Given the description of an element on the screen output the (x, y) to click on. 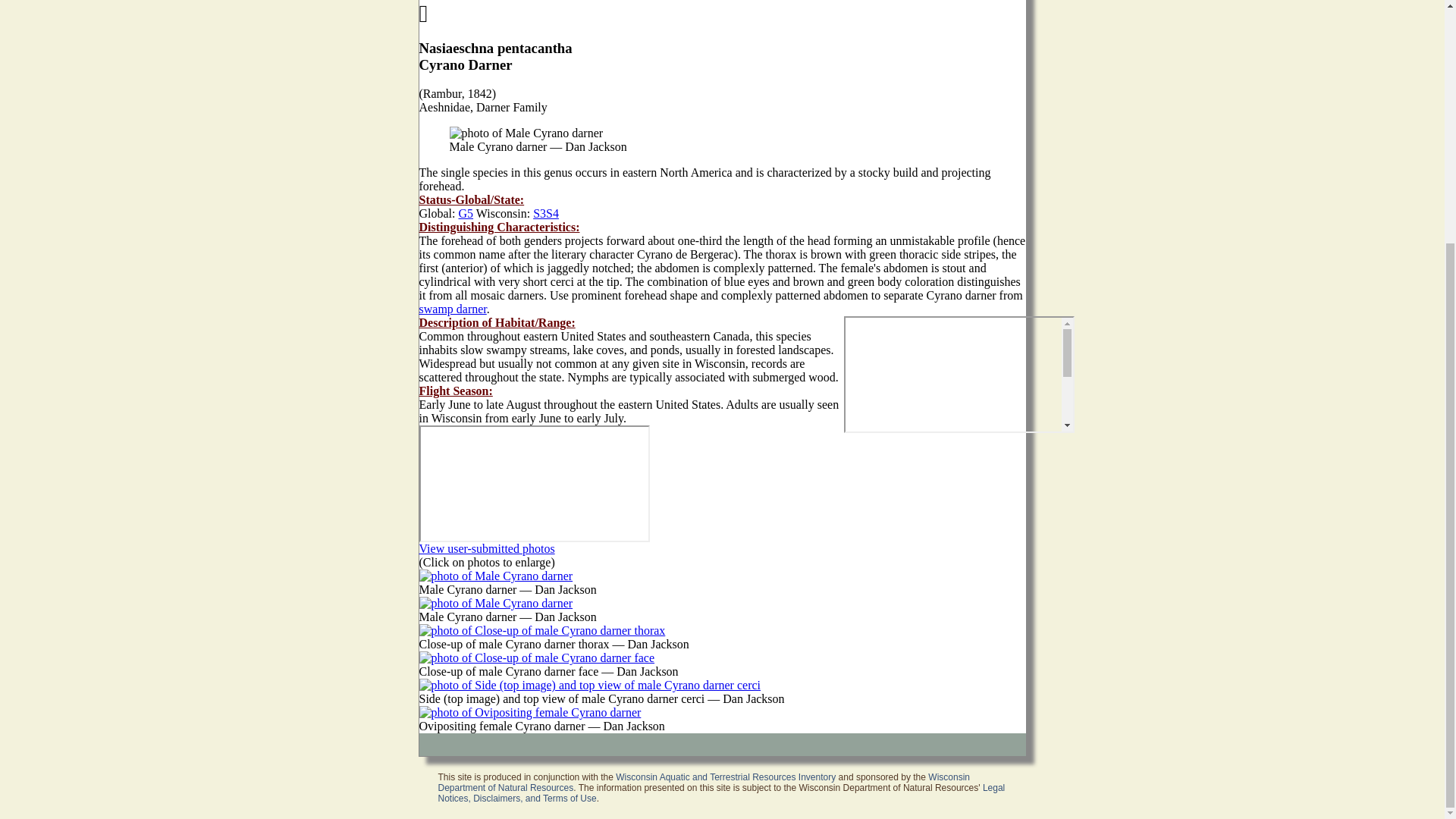
G5 (465, 213)
swamp darner (452, 308)
Wisconsin Department of Natural Resources (704, 782)
Legal Notices, Disclaimers, and Terms of Use (722, 792)
Wisconsin Aquatic and Terrestrial Resources Inventory (725, 777)
S3S4 (545, 213)
View user-submitted photos (486, 548)
